Given the description of an element on the screen output the (x, y) to click on. 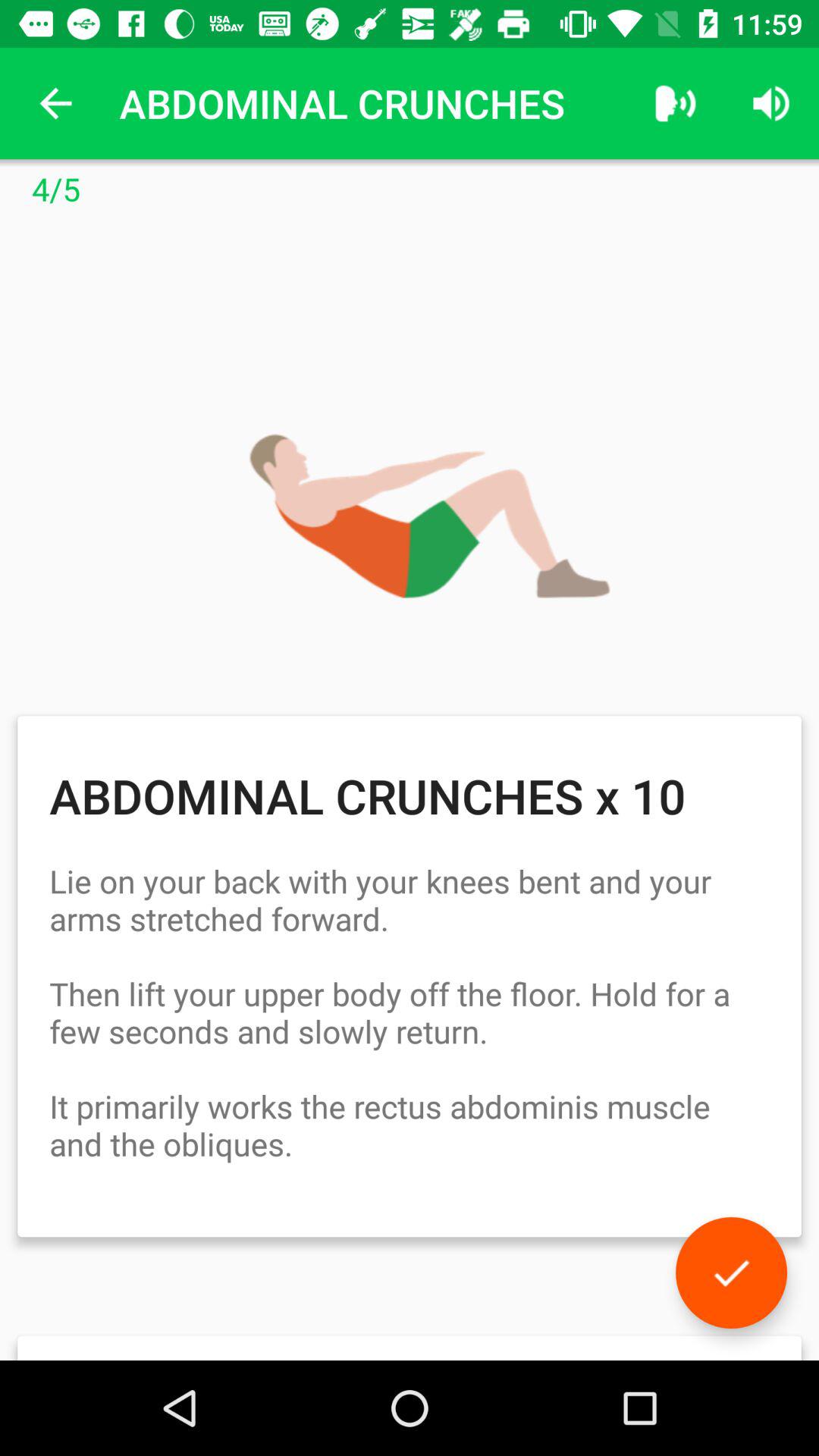
turn on item at the bottom right corner (731, 1272)
